Given the description of an element on the screen output the (x, y) to click on. 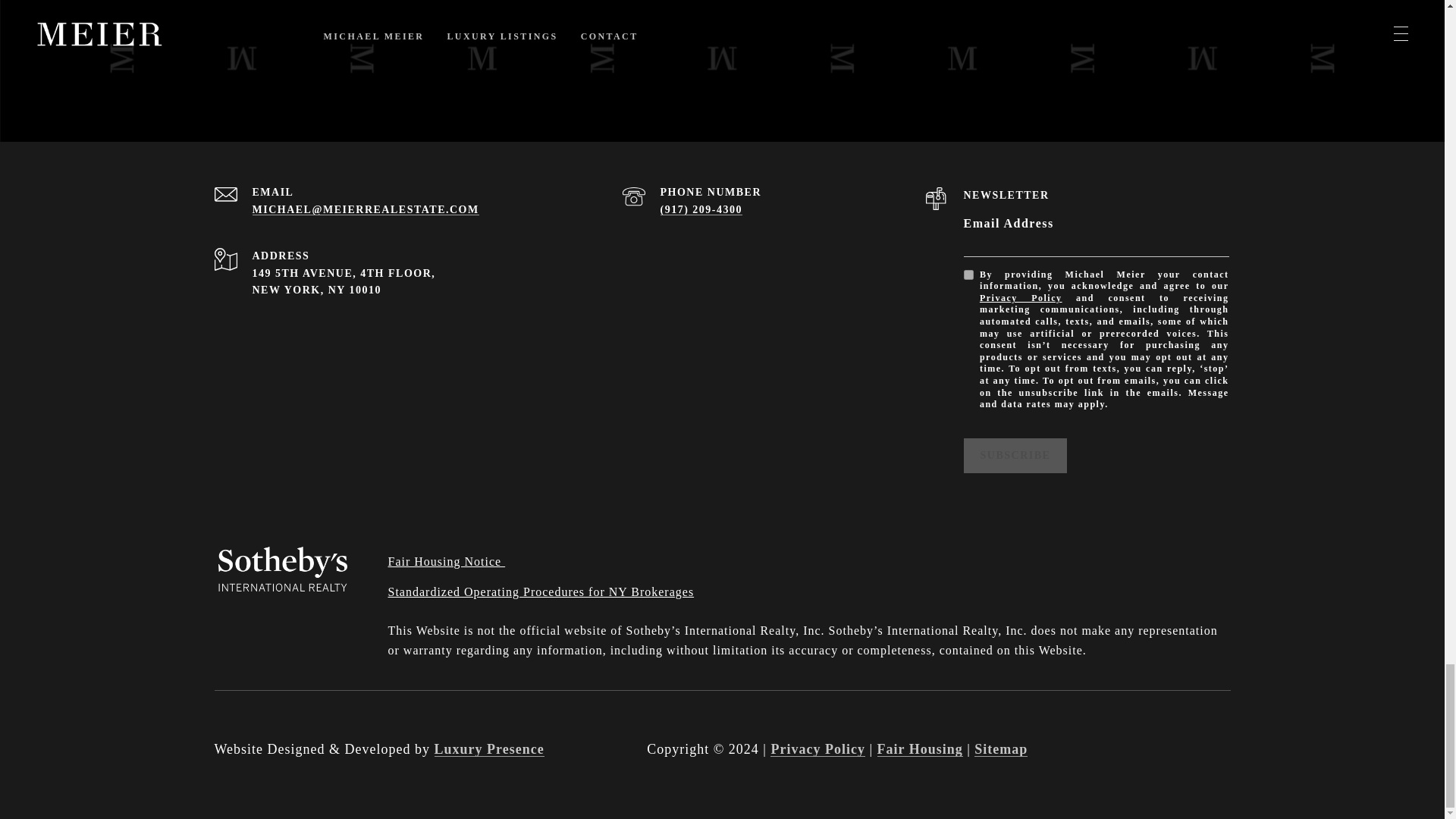
on (967, 275)
Privacy Policy (1020, 297)
Fair Housing Notice  (446, 561)
Standardized Operating Procedures for NY Brokerages (541, 591)
SUBSCRIBE (1014, 455)
Privacy Policy (817, 749)
Fair Housing (919, 749)
Luxury Presence (488, 749)
